Given the description of an element on the screen output the (x, y) to click on. 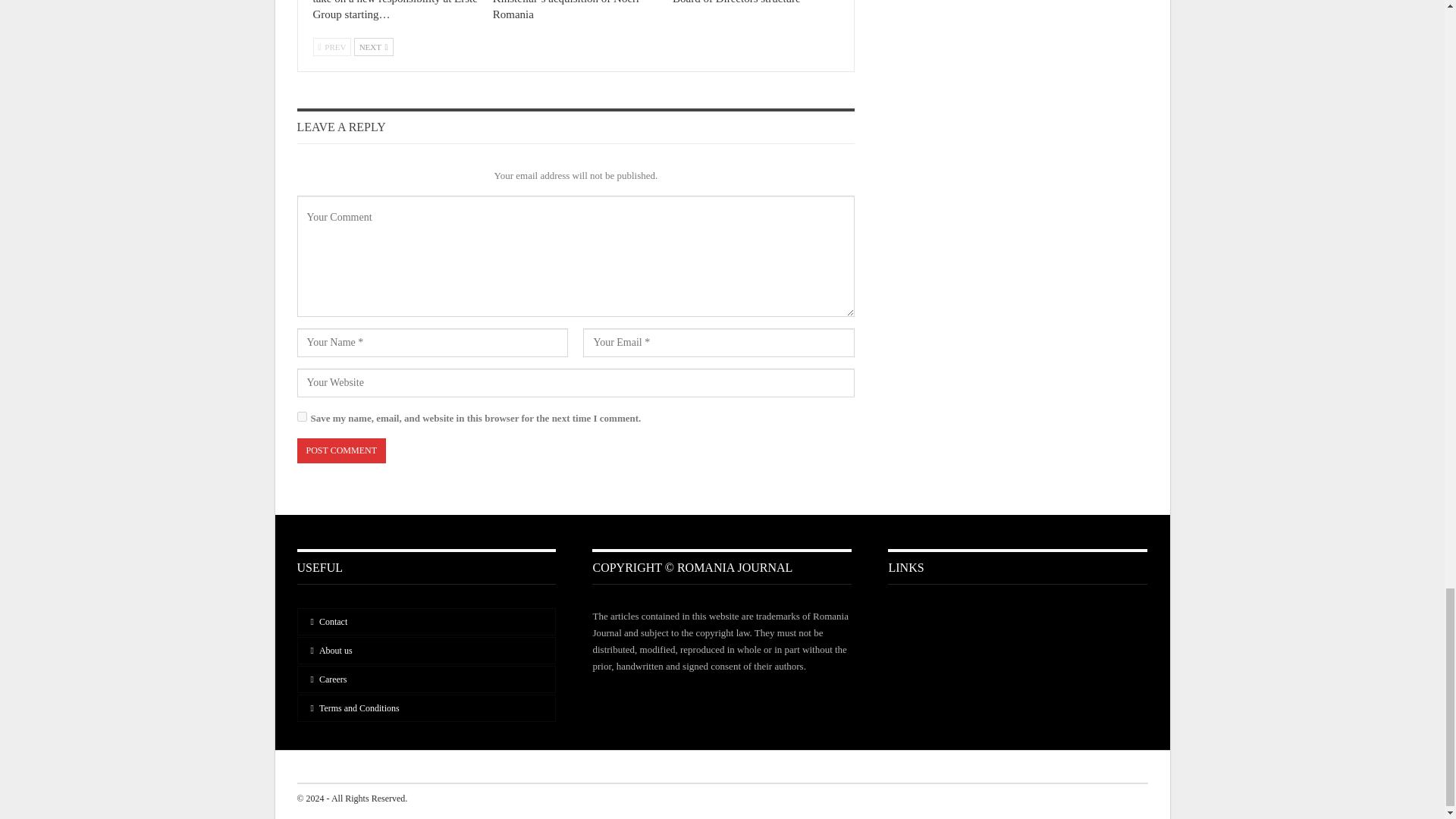
Post Comment (341, 450)
Chimcomplex Announces the new Board of Directors structure (750, 2)
Previous (331, 46)
yes (302, 416)
